Given the description of an element on the screen output the (x, y) to click on. 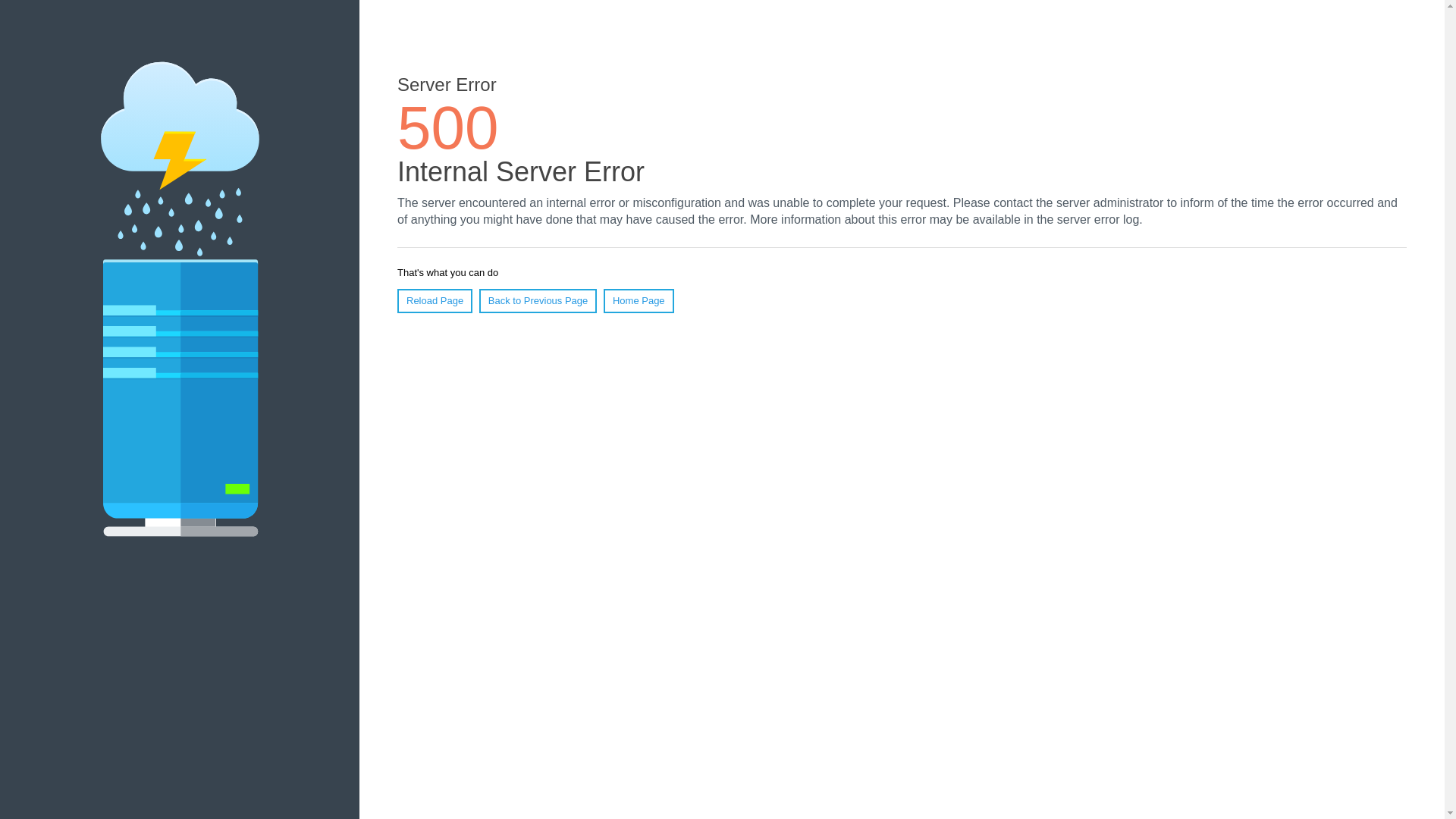
Back to Previous Page (537, 300)
Home Page (639, 300)
Reload Page (434, 300)
